Given the description of an element on the screen output the (x, y) to click on. 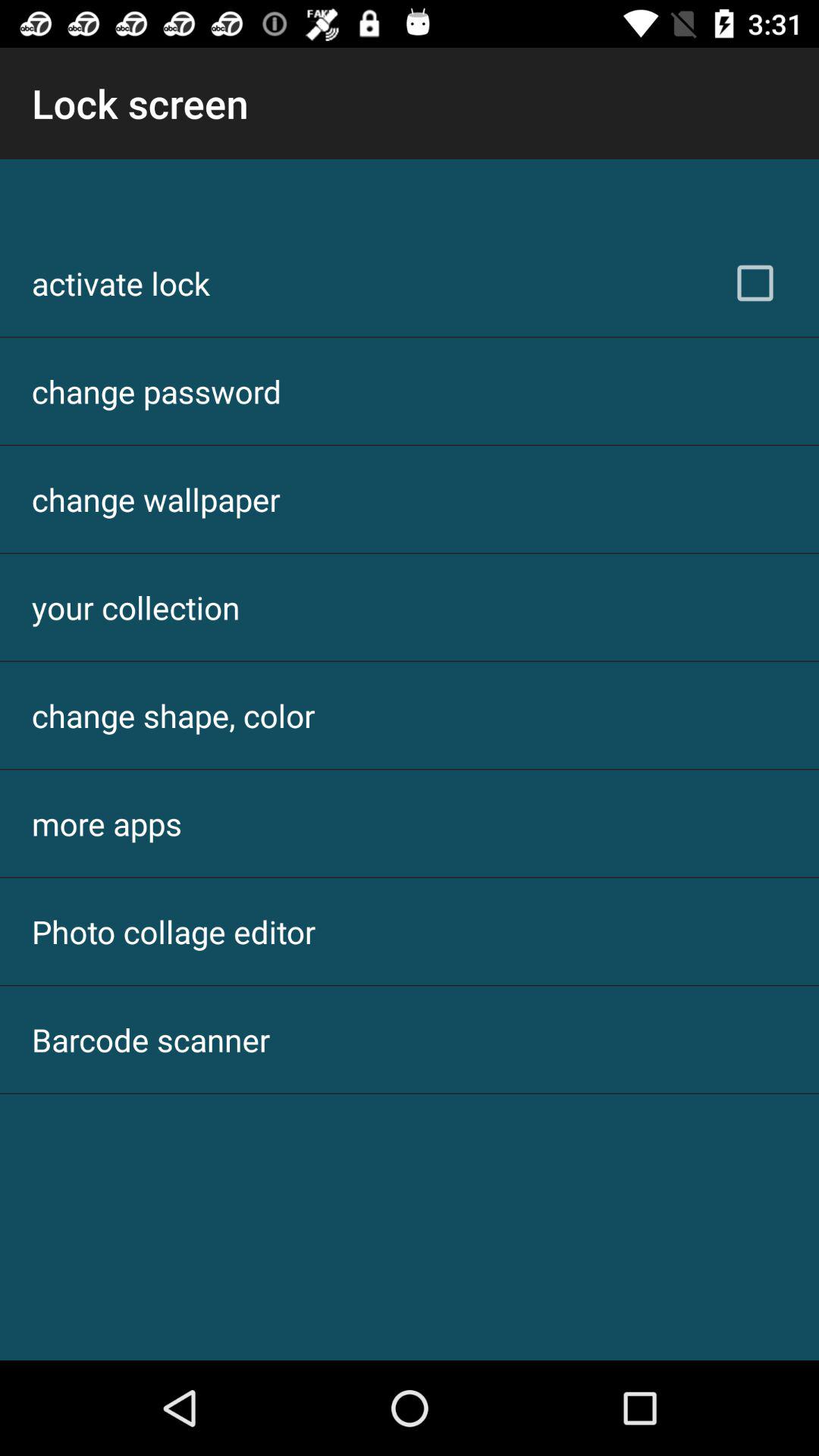
choose the app at the bottom left corner (150, 1039)
